Given the description of an element on the screen output the (x, y) to click on. 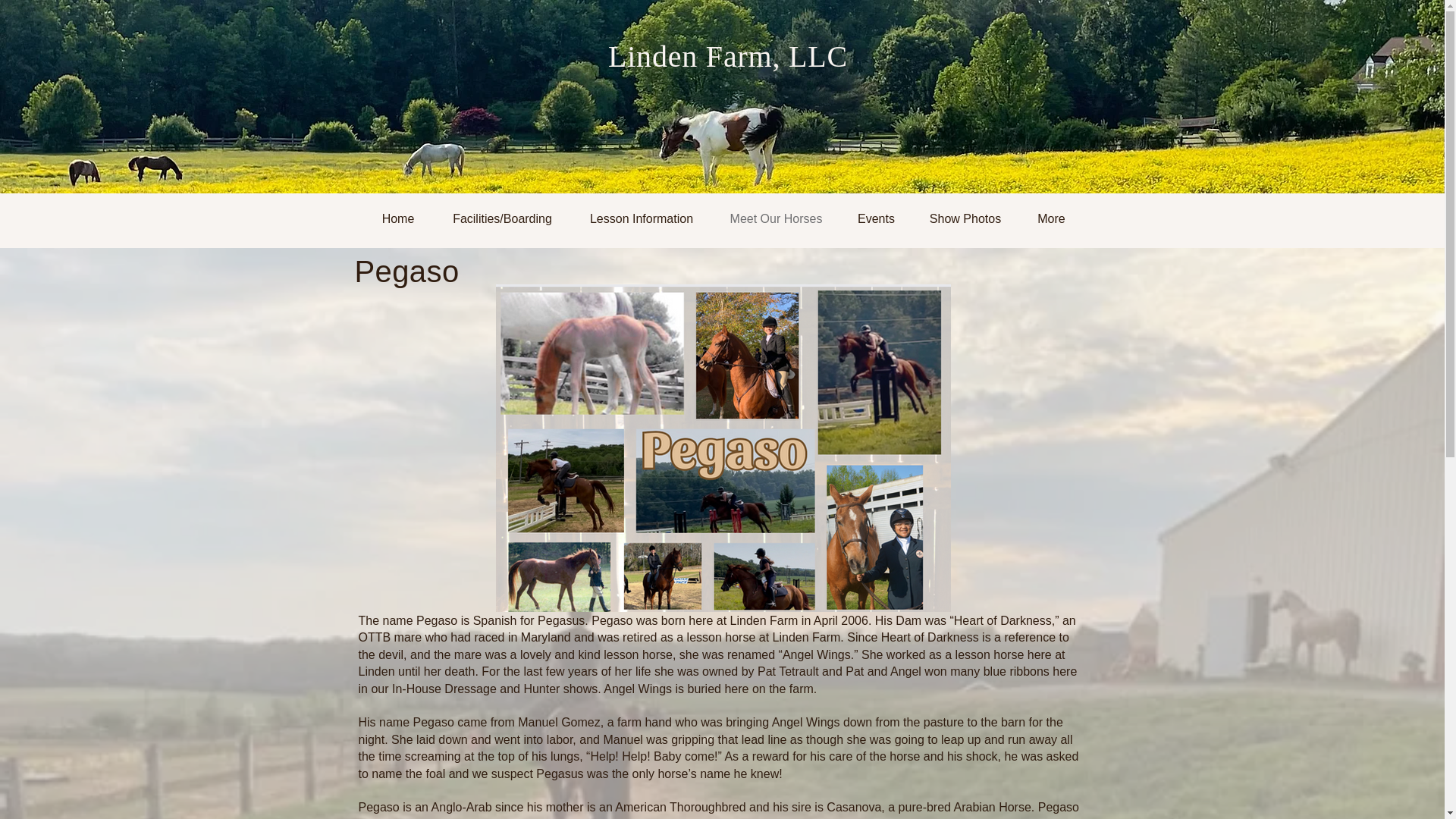
Linden Farm, LLC (727, 56)
Lesson Information (641, 218)
Meet Our Horses (775, 218)
Home (397, 218)
Events (875, 218)
Show Photos (964, 218)
